Given the description of an element on the screen output the (x, y) to click on. 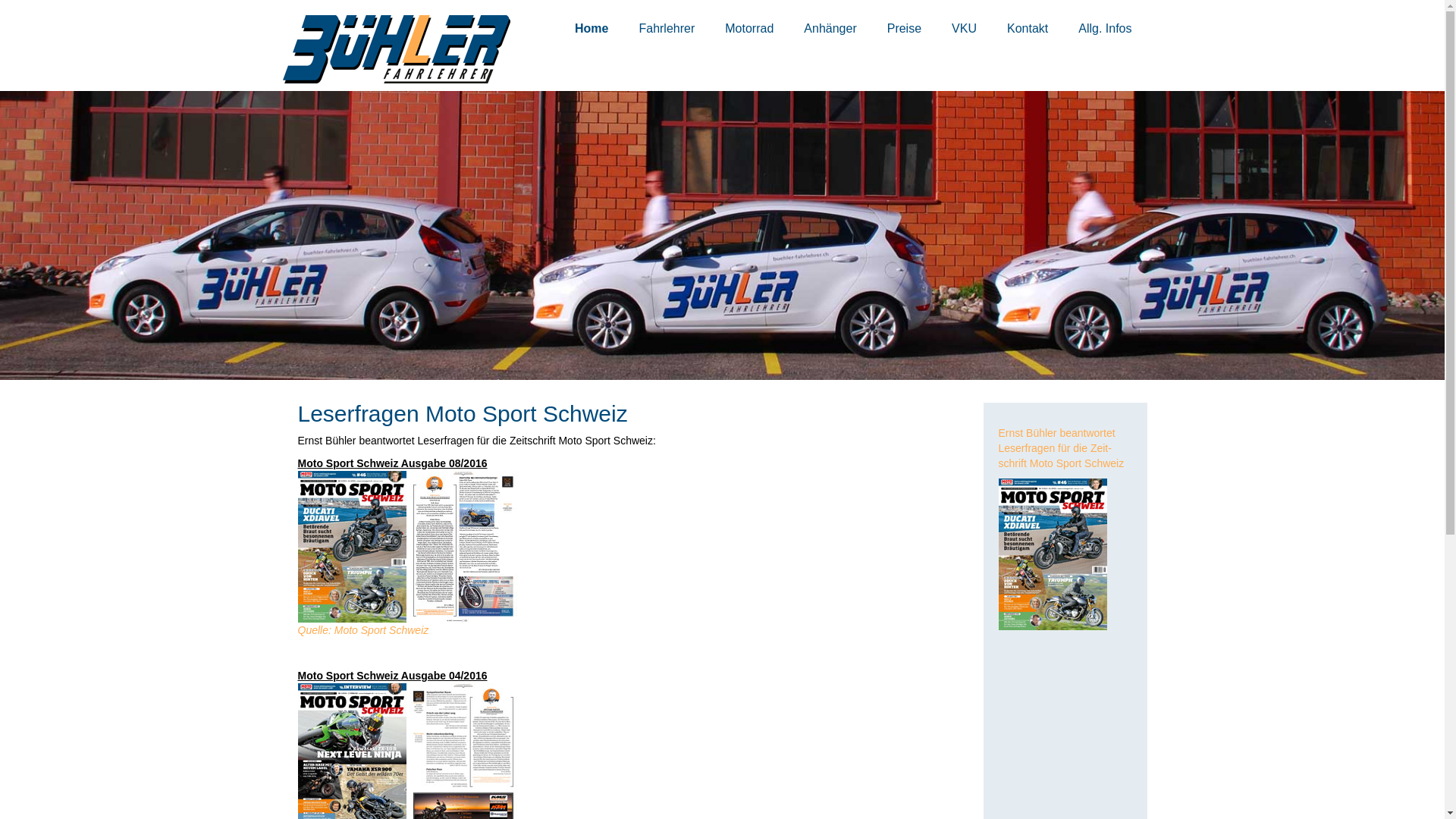
Home Element type: text (591, 17)
Allg. Infos Element type: text (1104, 17)
Preise Element type: text (904, 17)
VKU Element type: text (963, 17)
Quelle: Moto Sport Schweiz Element type: text (362, 630)
Kontakt Element type: text (1027, 17)
Fahrlehrer Element type: text (666, 17)
Motorrad Element type: text (748, 17)
